Given the description of an element on the screen output the (x, y) to click on. 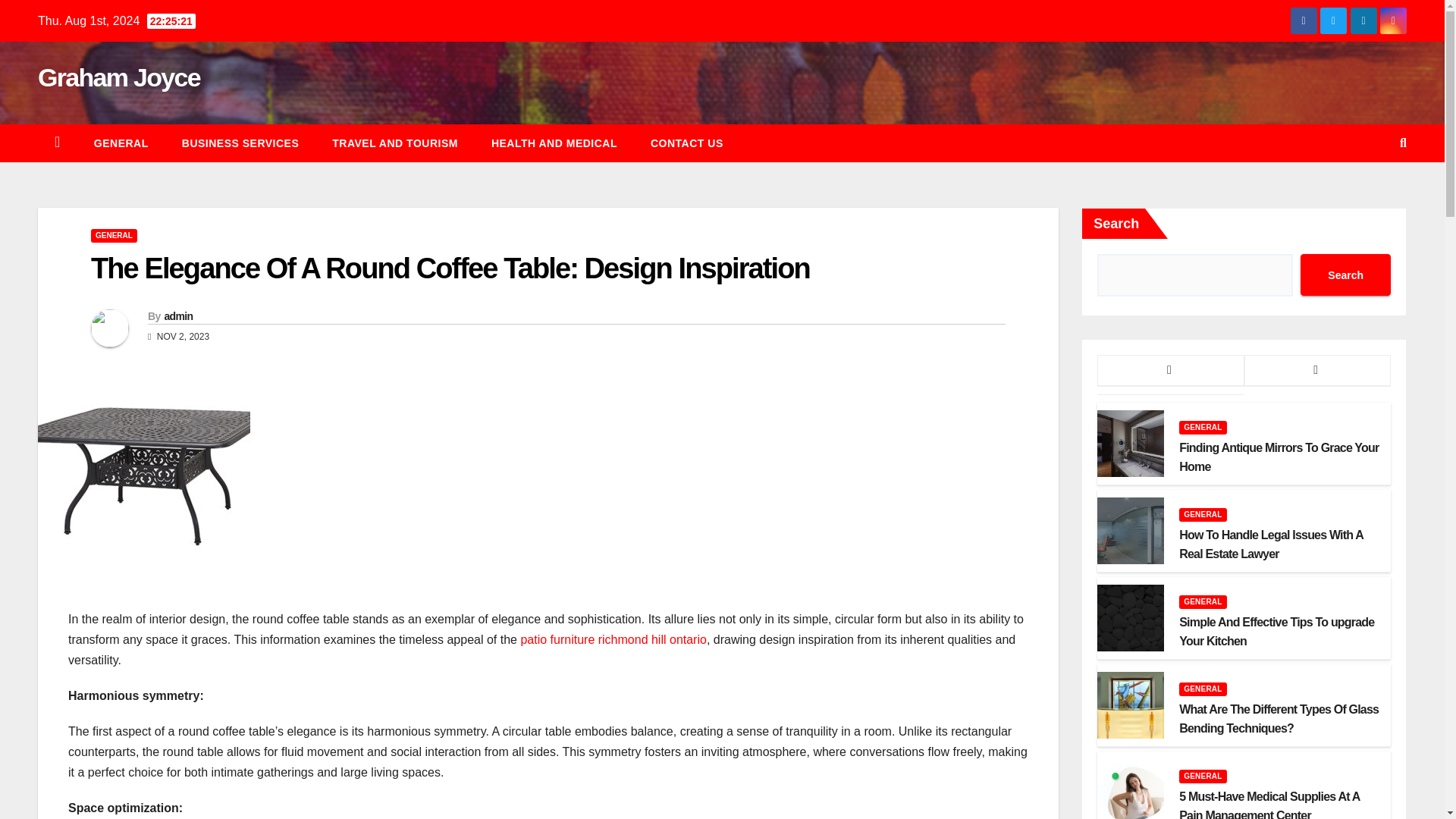
Business Services (240, 143)
Contact Us (686, 143)
admin (177, 316)
Travel and Tourism (394, 143)
General (121, 143)
BUSINESS SERVICES (240, 143)
patio furniture richmond hill ontario (612, 639)
TRAVEL AND TOURISM (394, 143)
The Elegance Of A Round Coffee Table: Design Inspiration (449, 268)
CONTACT US (686, 143)
GENERAL (113, 235)
GENERAL (121, 143)
Graham Joyce (118, 77)
Health and Medical (553, 143)
